Given the description of an element on the screen output the (x, y) to click on. 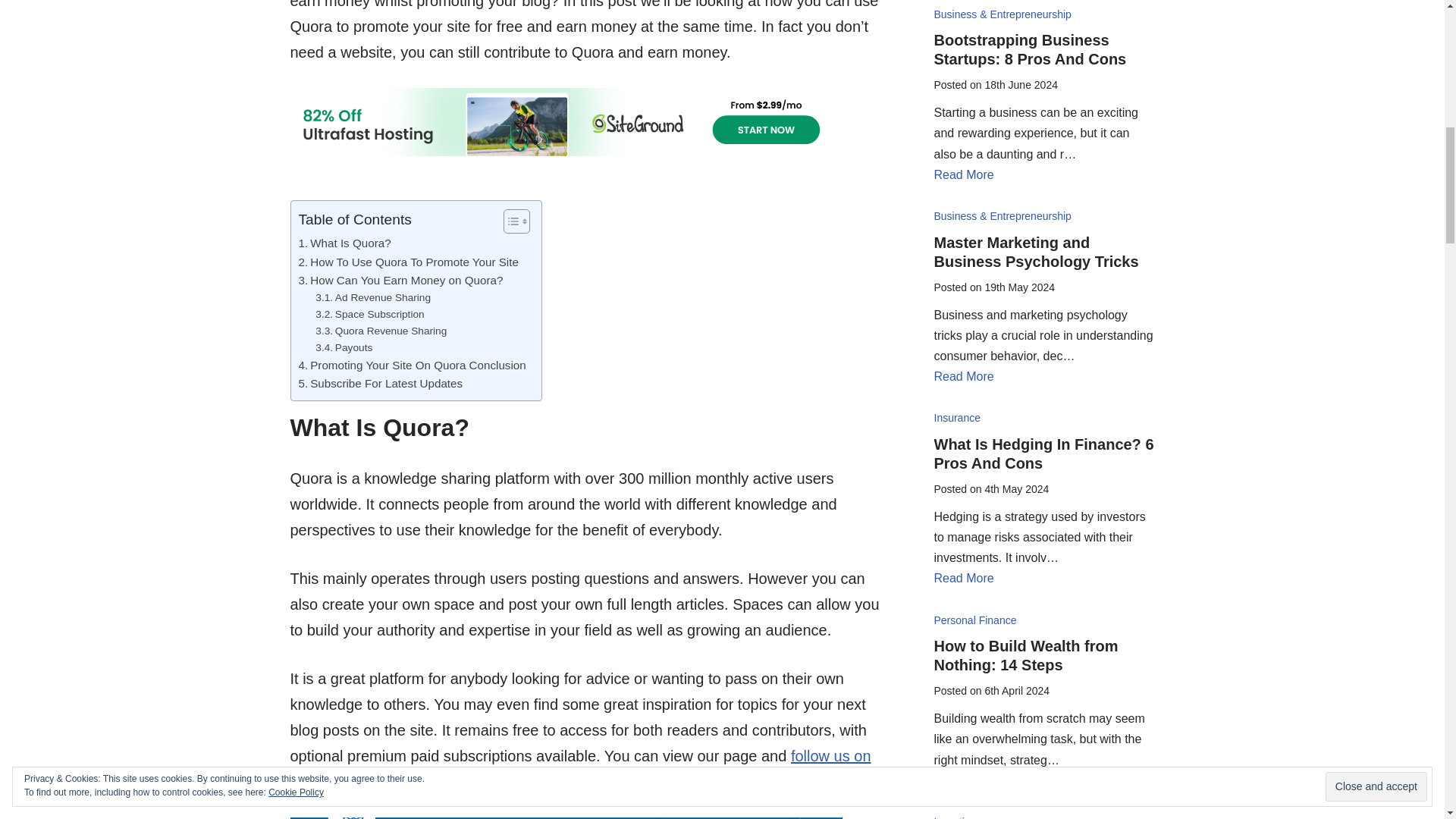
What Is Quora? (344, 243)
Ad Revenue Sharing (372, 297)
Space Subscription (369, 314)
Quora Revenue Sharing (380, 330)
How To Use Quora To Promote Your Site (408, 262)
How Can You Earn Money on Quora? (400, 280)
